Given the description of an element on the screen output the (x, y) to click on. 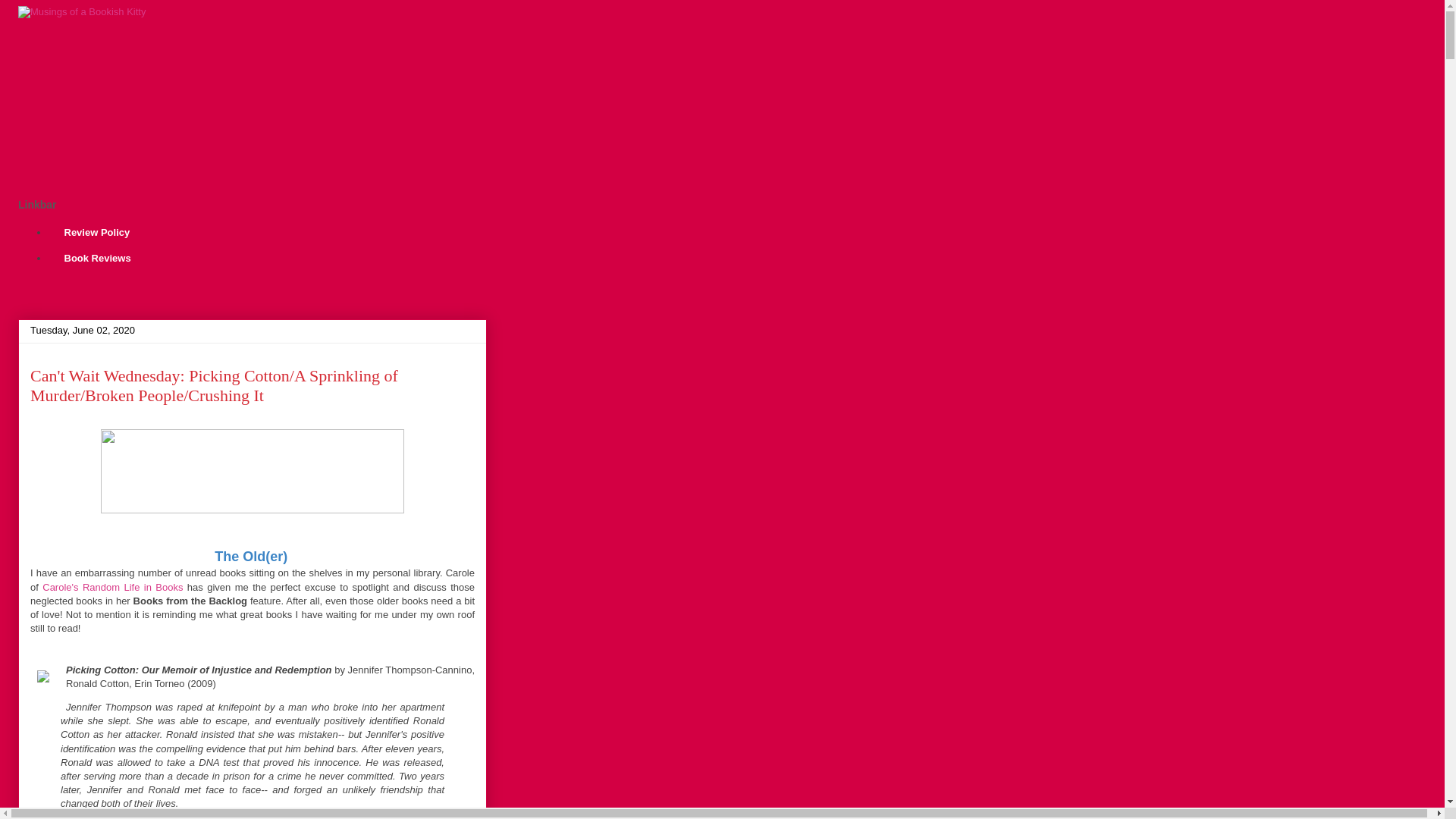
Carole's Random Life in Books (112, 586)
Review Policy (96, 233)
Book Reviews (97, 258)
